Given the description of an element on the screen output the (x, y) to click on. 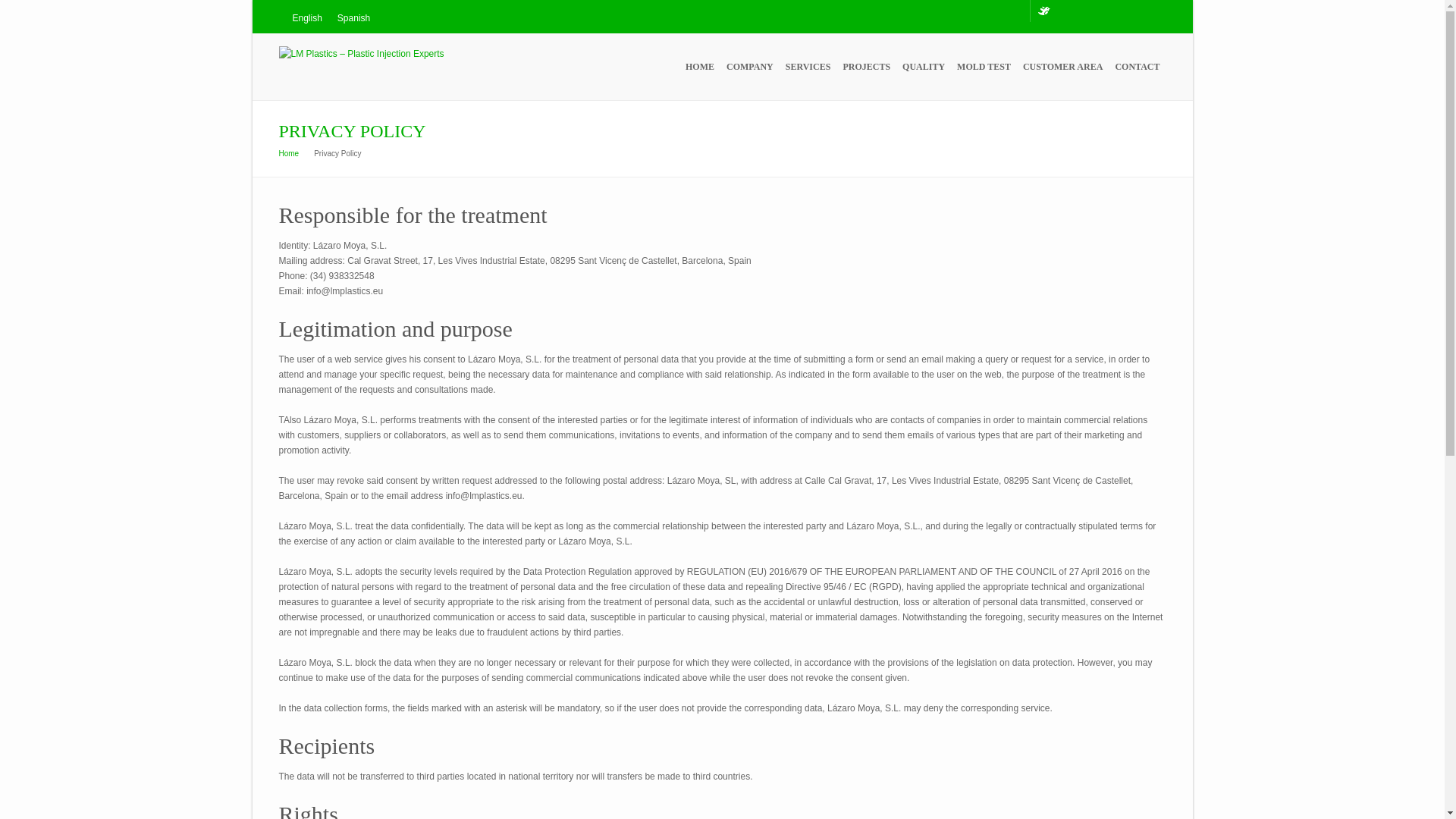
MOLD TEST (983, 66)
PROJECTS (865, 66)
Customers Zone (1062, 66)
English (307, 18)
Home (289, 153)
Projects (865, 66)
Mold Test (983, 66)
Spanish (353, 18)
CUSTOMER AREA (1062, 66)
